Given the description of an element on the screen output the (x, y) to click on. 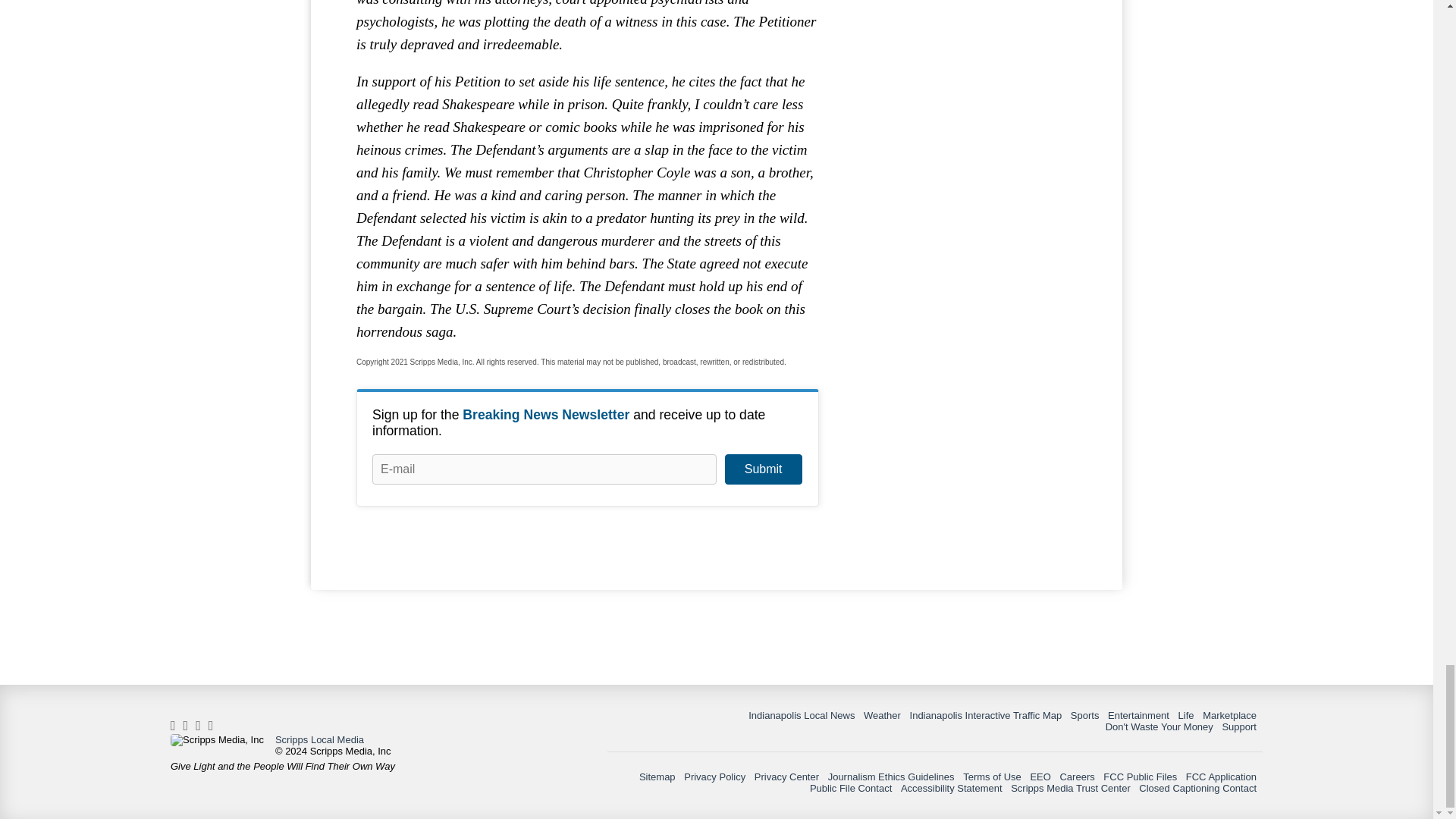
Submit (763, 469)
